Given the description of an element on the screen output the (x, y) to click on. 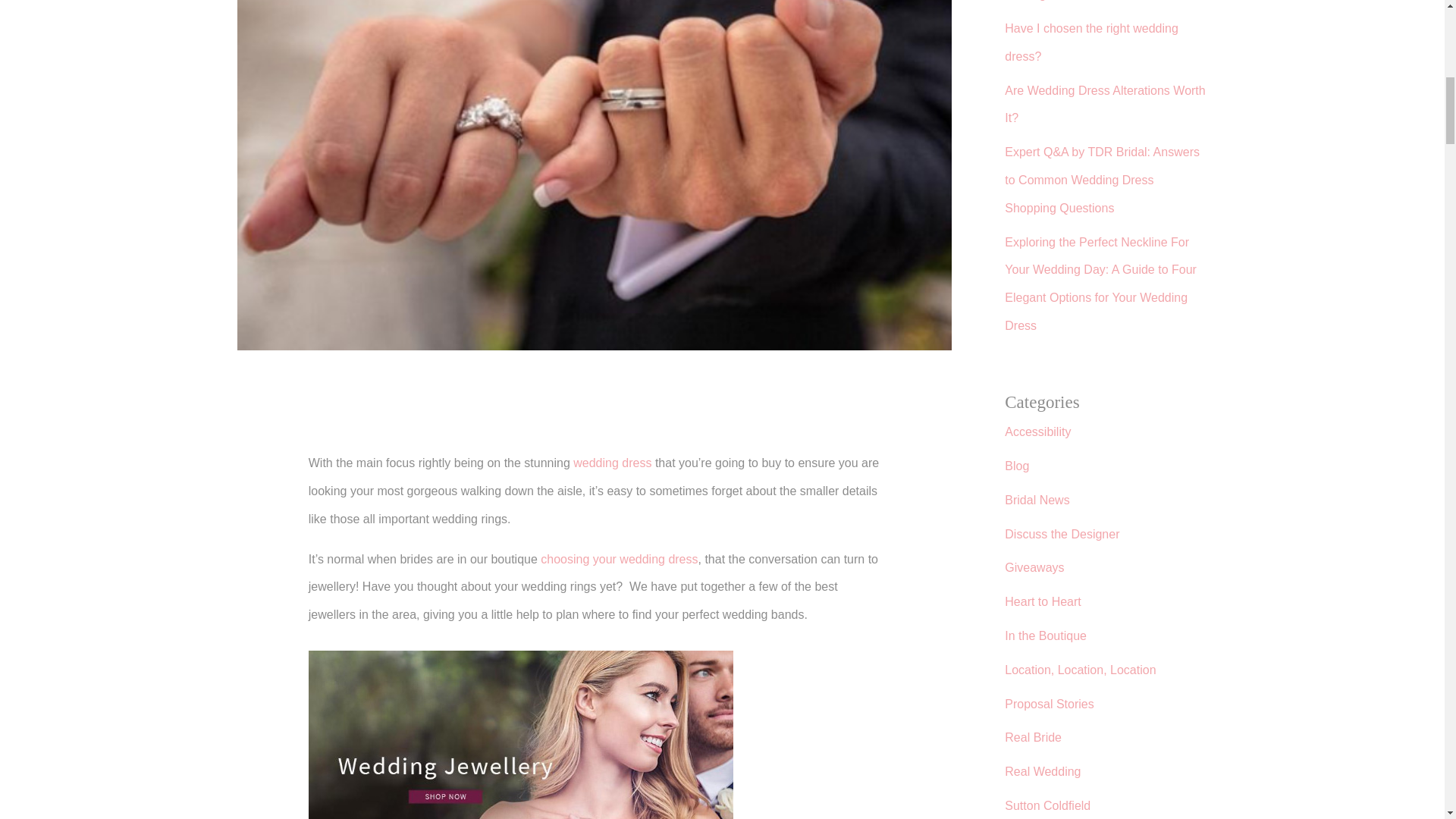
choosing your wedding dress (618, 558)
wedding jewellery (520, 734)
wedding dress (611, 462)
